Given the description of an element on the screen output the (x, y) to click on. 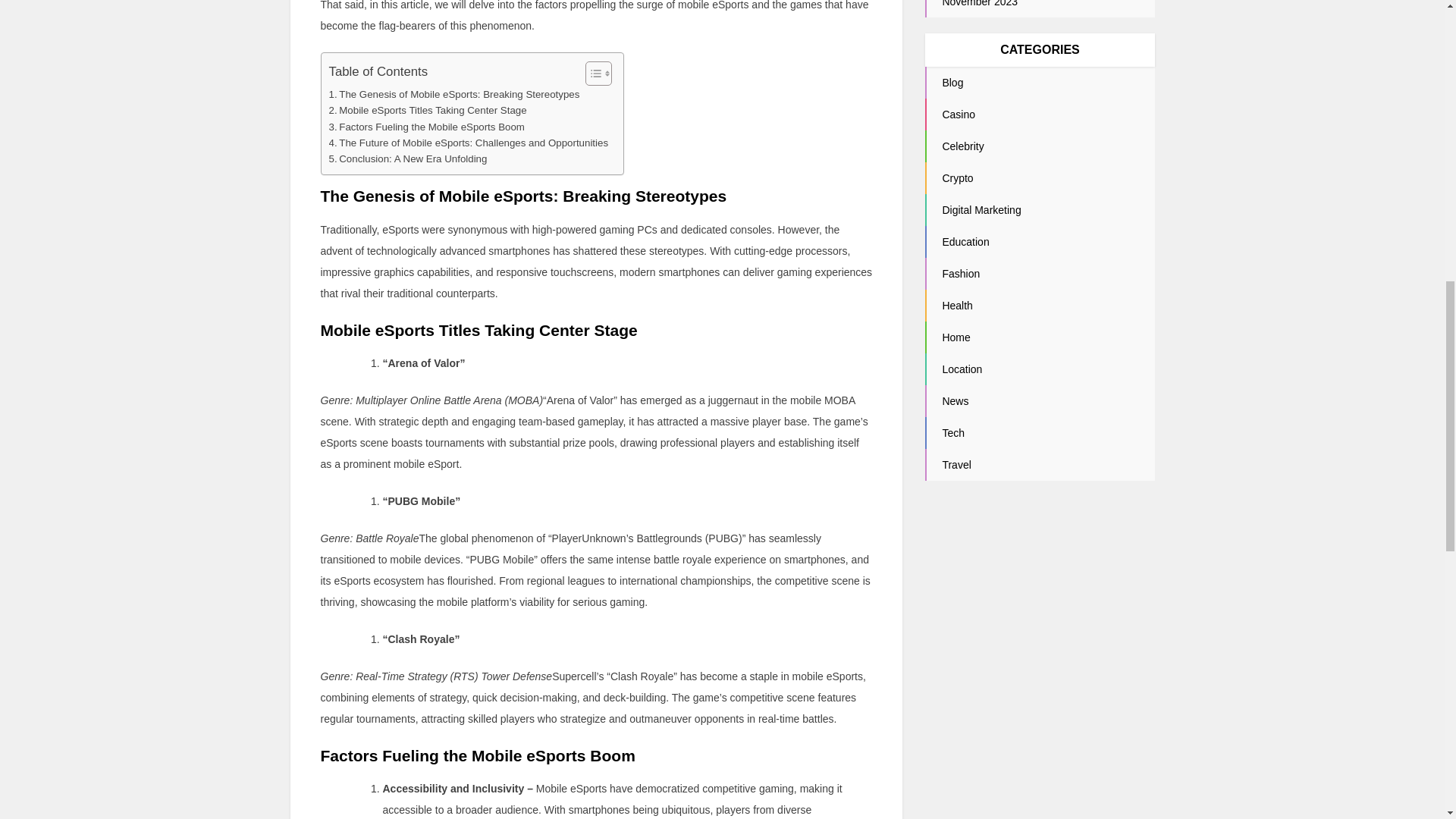
Conclusion: A New Era Unfolding (408, 158)
The Future of Mobile eSports: Challenges and Opportunities (468, 142)
The Genesis of Mobile eSports: Breaking Stereotypes (454, 94)
Mobile eSports Titles Taking Center Stage (428, 109)
Celebrity (963, 146)
Casino (958, 114)
Blog (952, 82)
Factors Fueling the Mobile eSports Boom (426, 125)
Conclusion: A New Era Unfolding (408, 158)
November 2023 (979, 3)
